Given the description of an element on the screen output the (x, y) to click on. 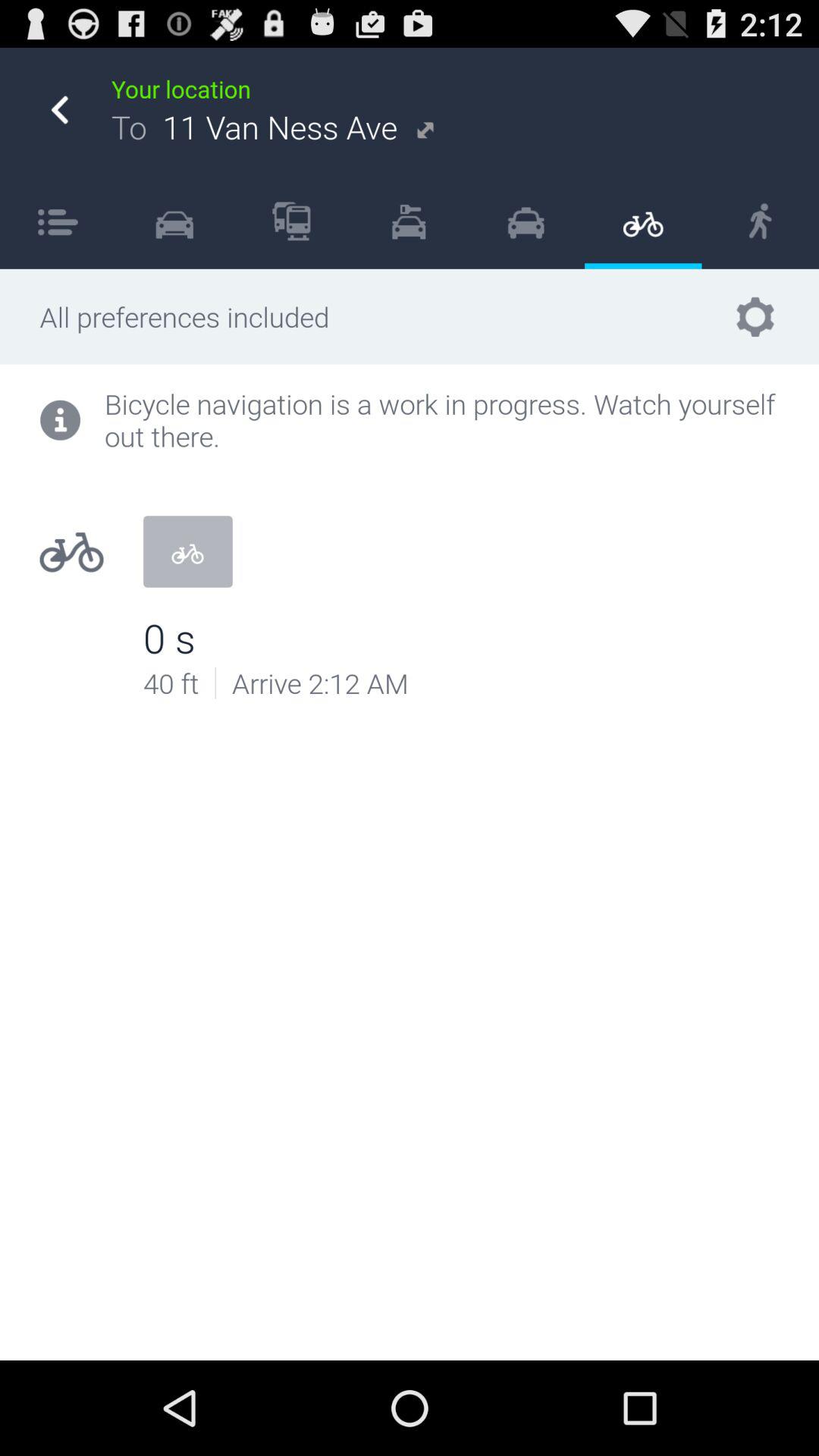
choose item at the bottom right corner (763, 1304)
